Given the description of an element on the screen output the (x, y) to click on. 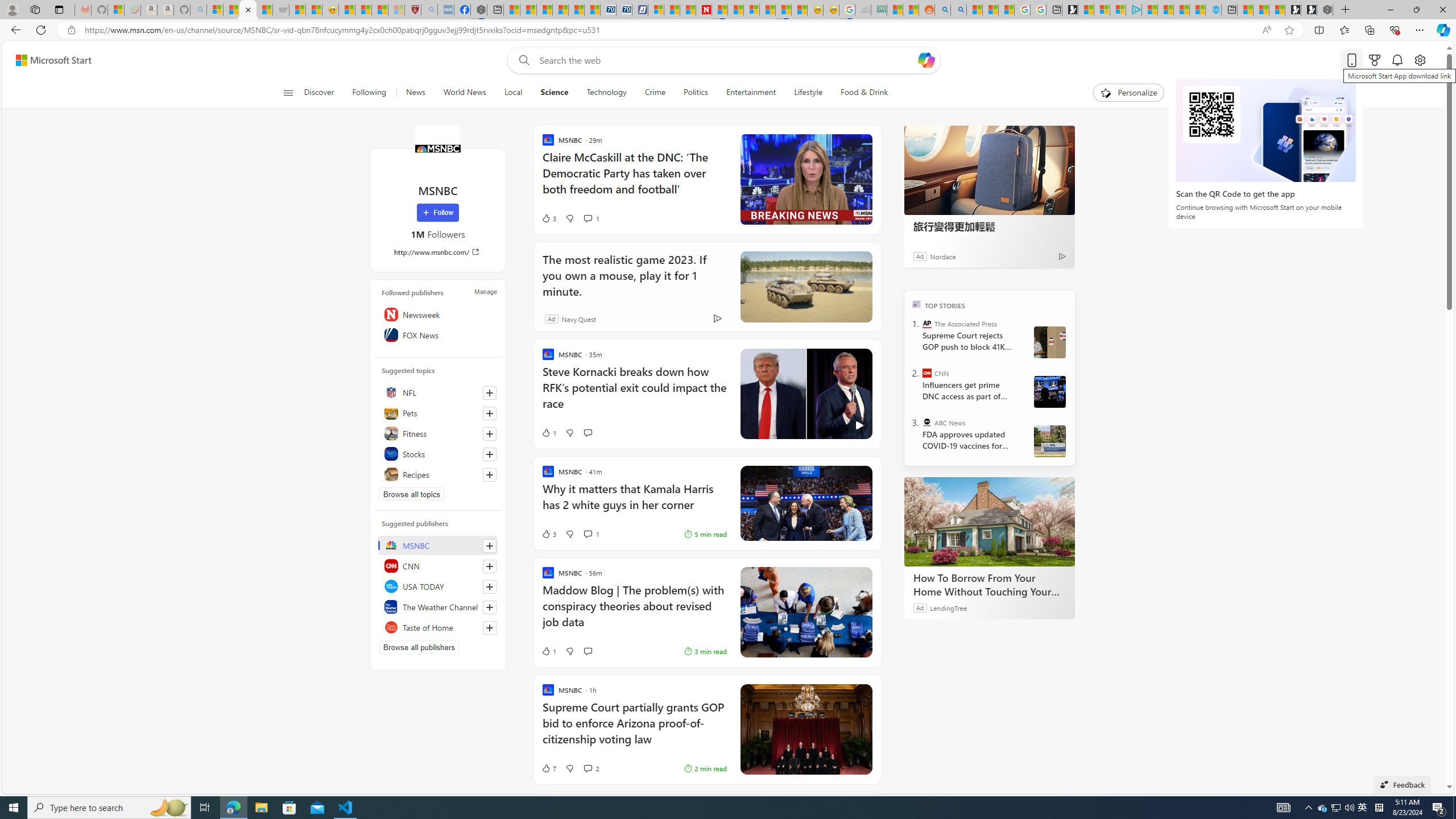
NFL (437, 392)
MSNBC (437, 545)
Browse all publishers (419, 647)
Navy.Quest (578, 318)
Follow this source (489, 627)
Recipes (437, 474)
http://www.msnbc.com/ (438, 251)
